Given the description of an element on the screen output the (x, y) to click on. 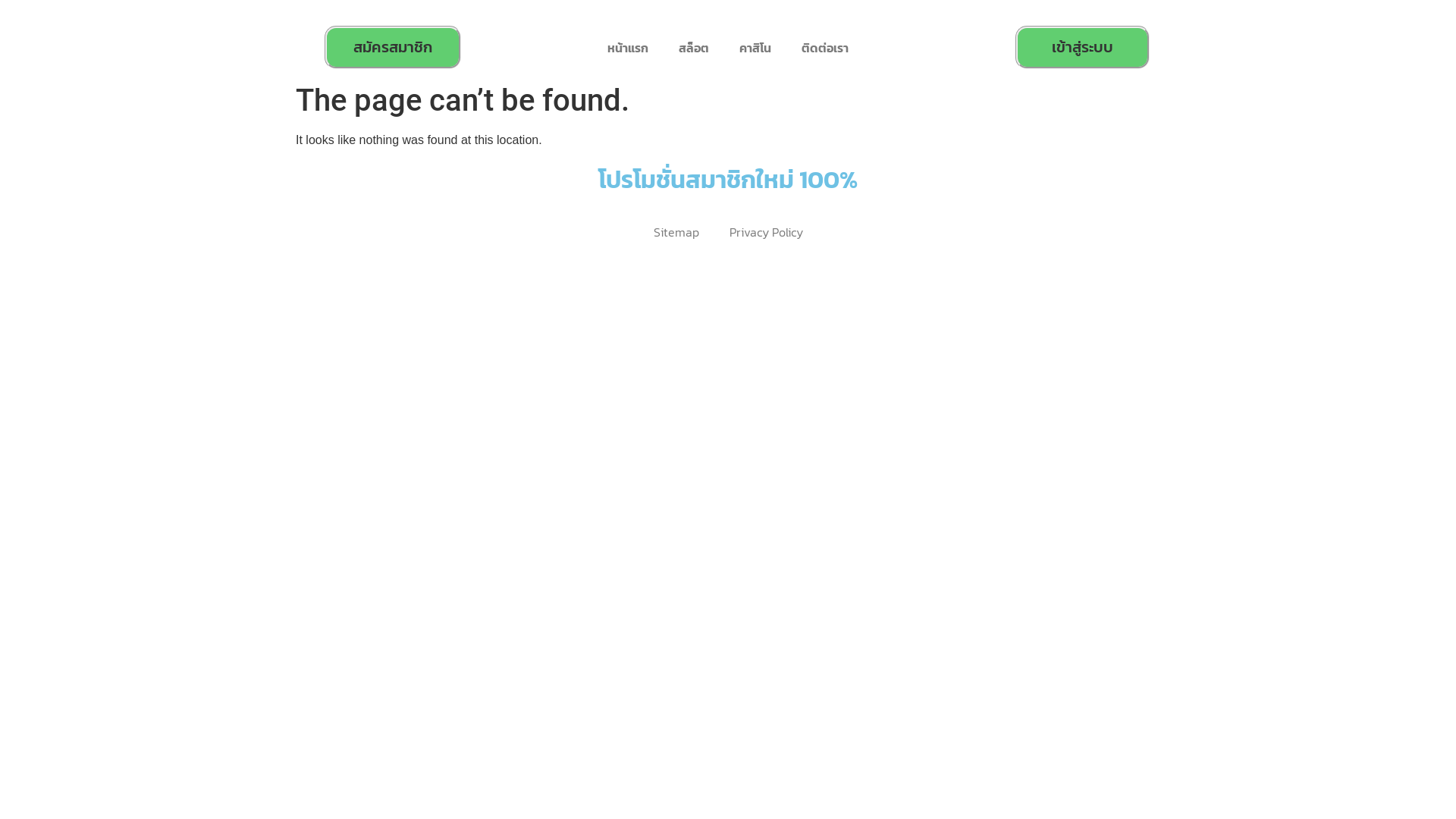
Privacy Policy Element type: text (766, 232)
Sitemap Element type: text (676, 232)
